Given the description of an element on the screen output the (x, y) to click on. 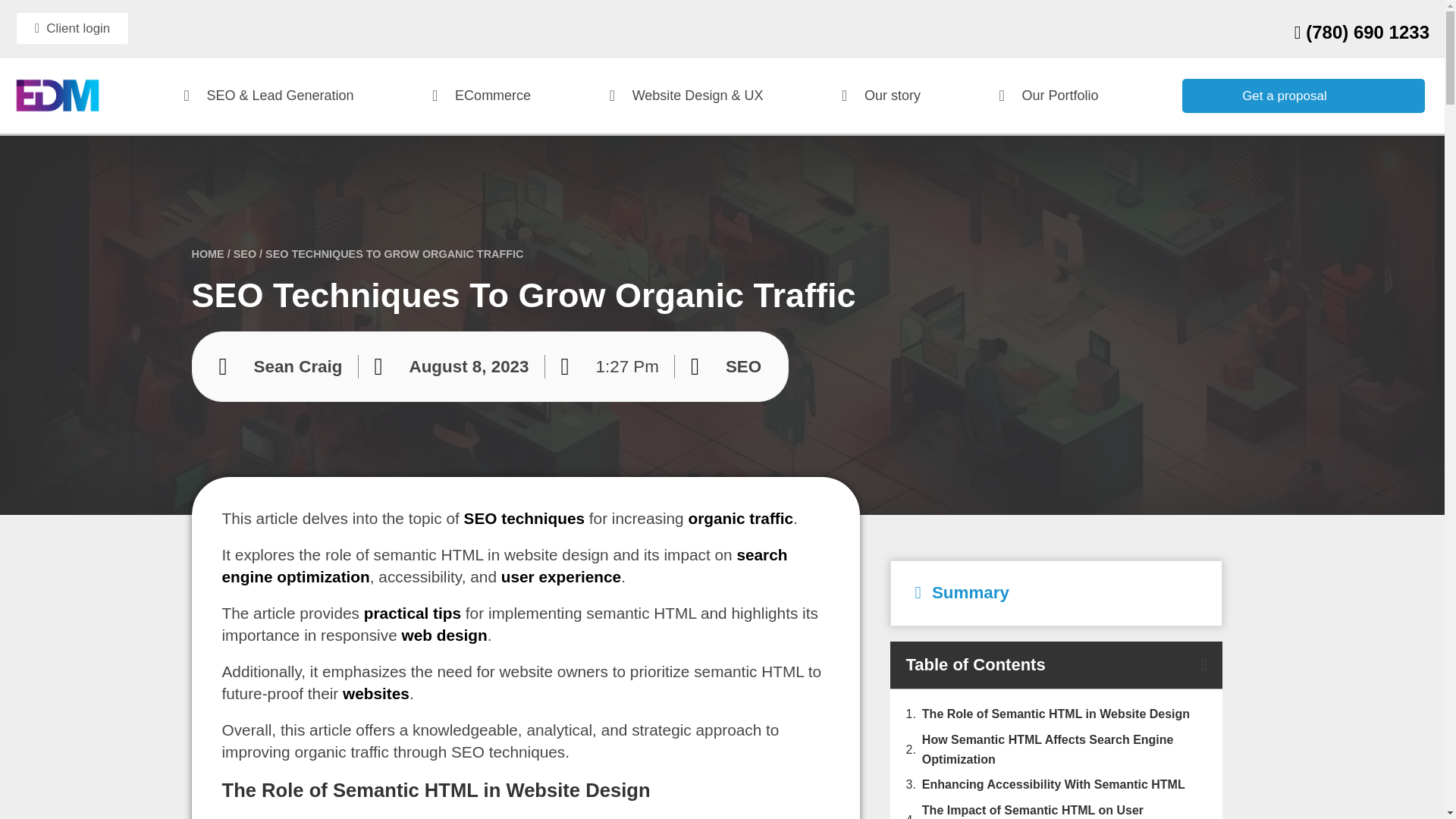
Link-Building: Reasons Why Someone Would Build Links for Me (740, 518)
Client login (71, 28)
What Is Link Building For Websites? (375, 692)
